Given the description of an element on the screen output the (x, y) to click on. 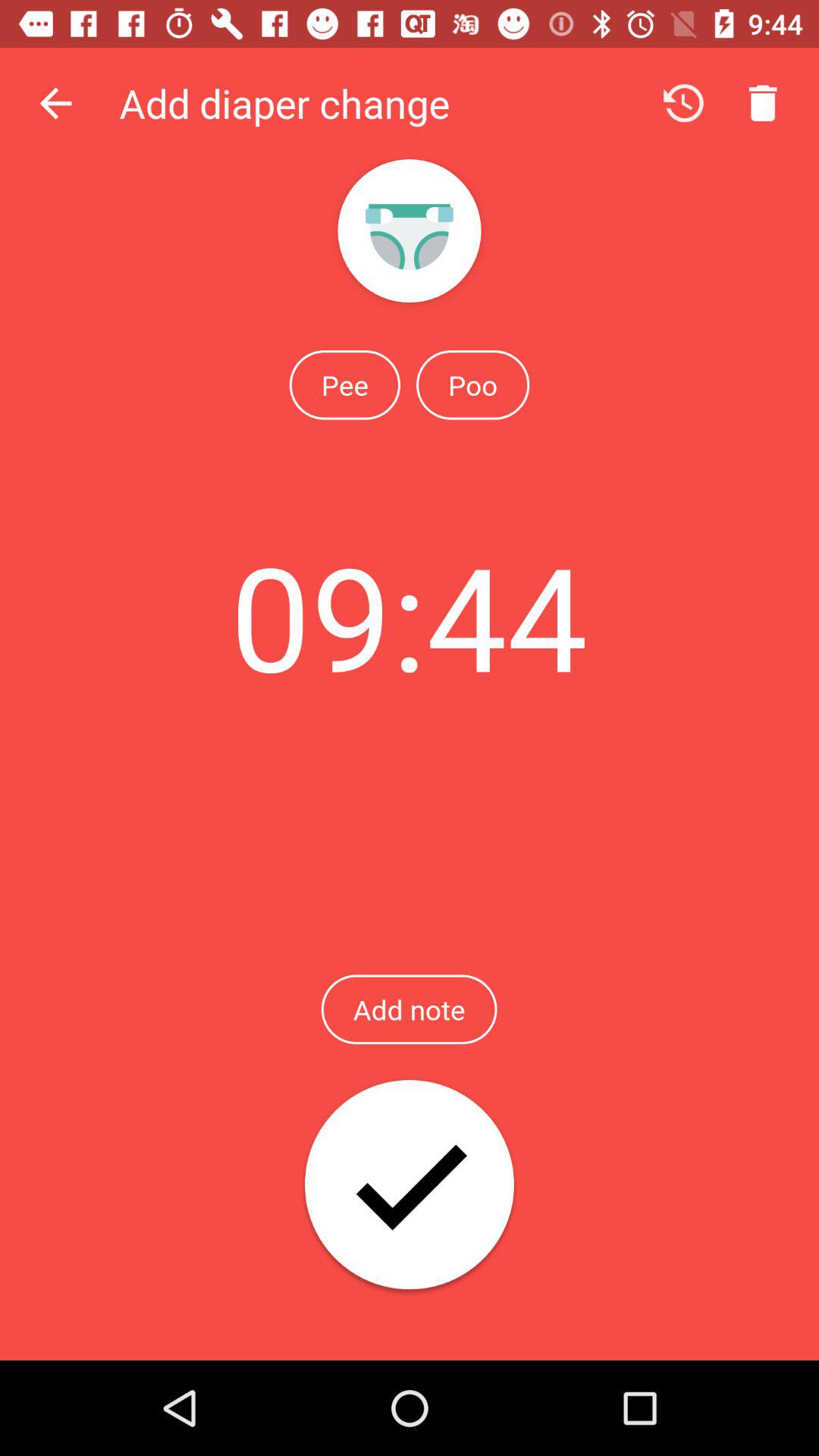
flip until 09:44 (409, 615)
